Given the description of an element on the screen output the (x, y) to click on. 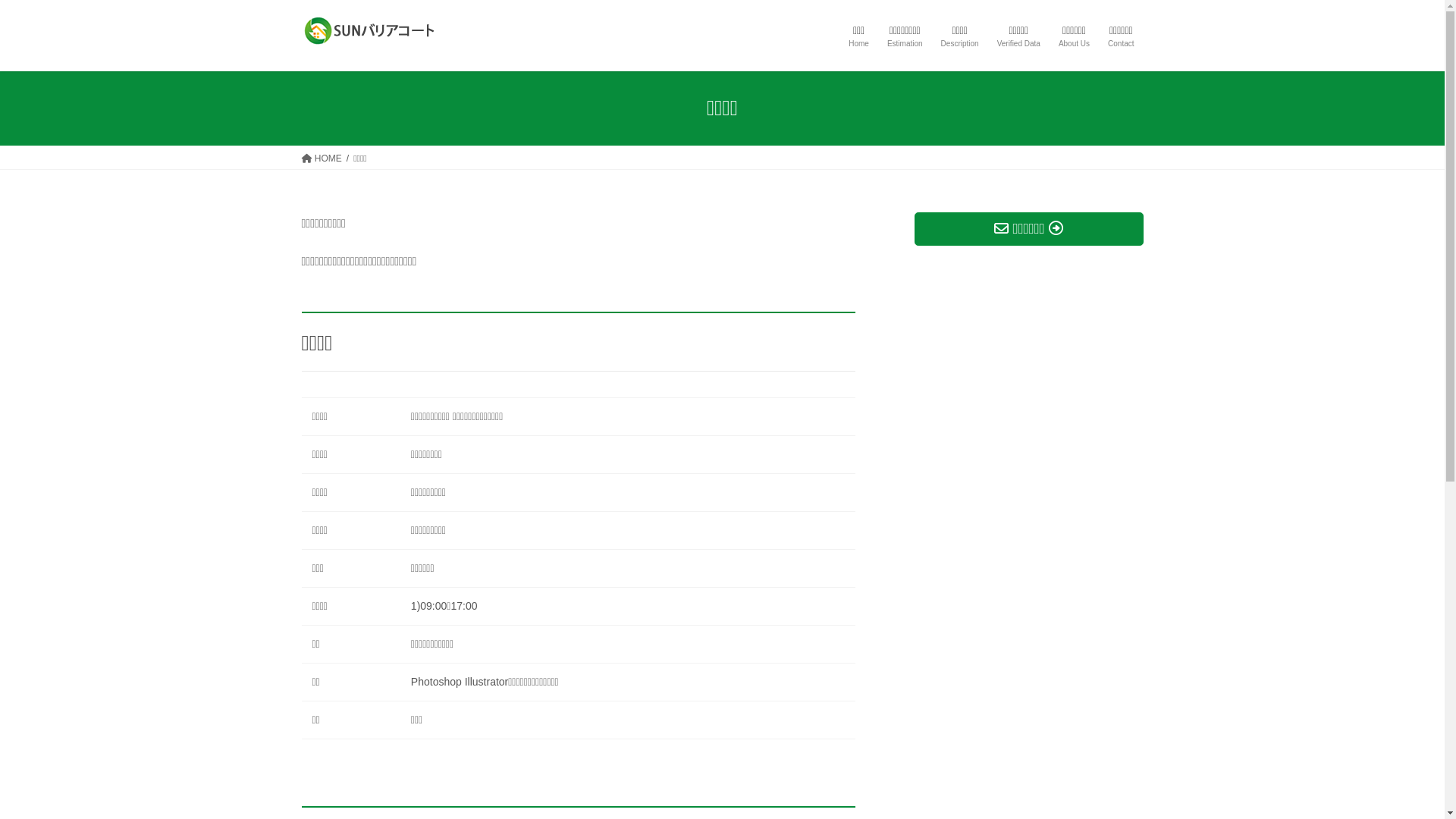
HOME Element type: text (321, 157)
